Given the description of an element on the screen output the (x, y) to click on. 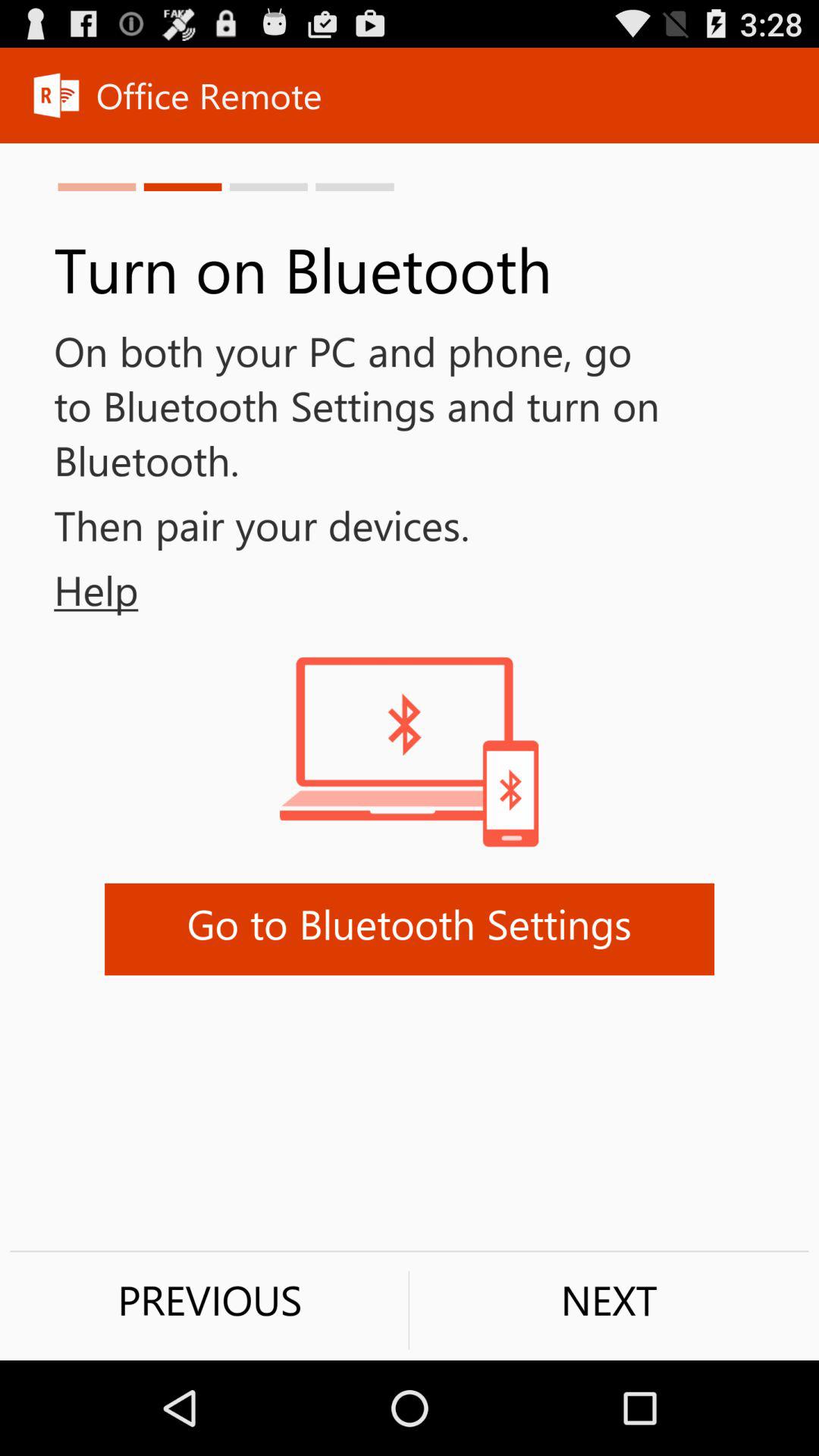
select item to the right of the previous item (608, 1300)
